Given the description of an element on the screen output the (x, y) to click on. 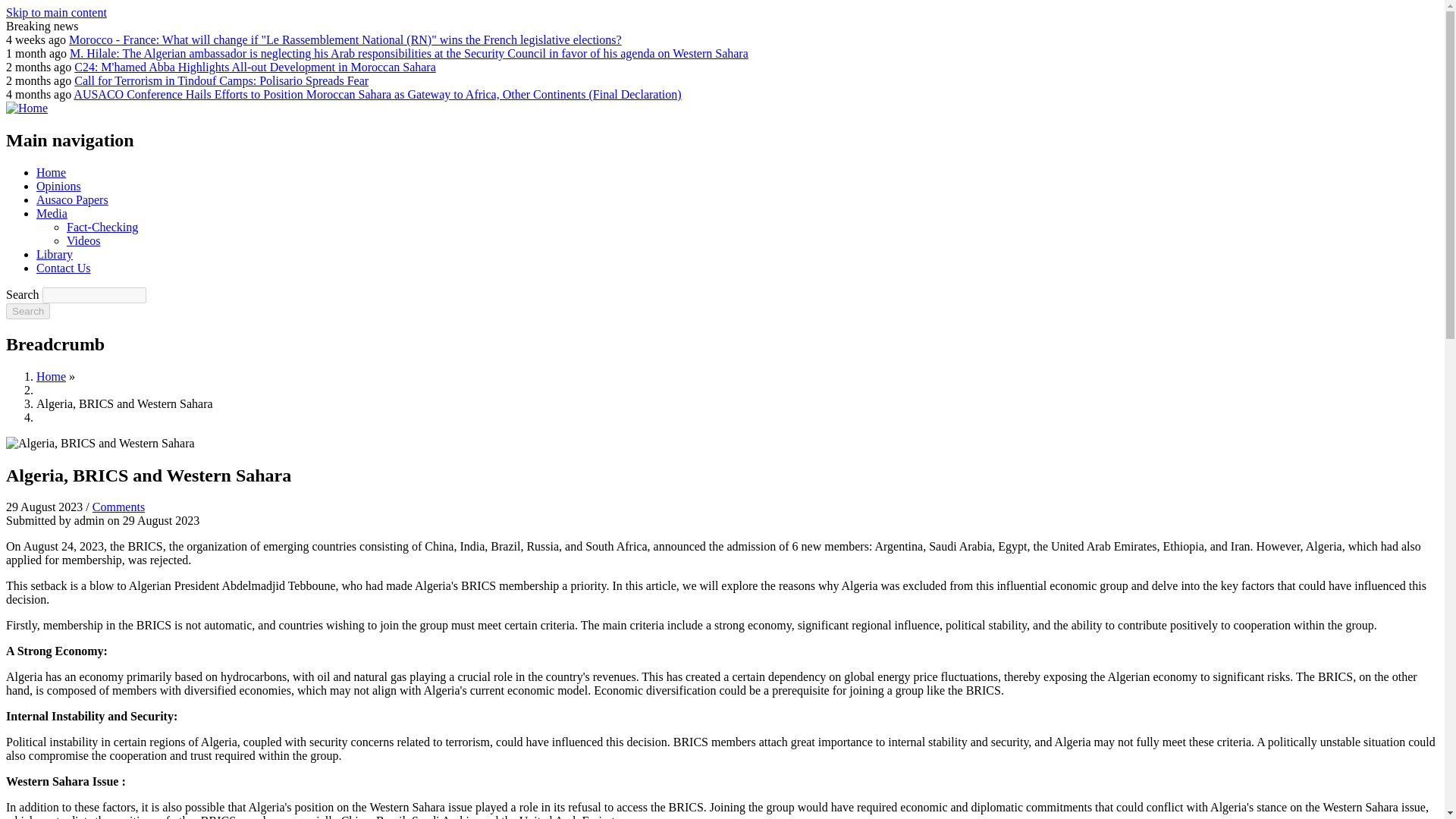
Comments (118, 506)
Library (54, 254)
Call for Terrorism in Tindouf Camps: Polisario Spreads Fear (221, 80)
Search (27, 311)
Search (27, 311)
Opinions (58, 185)
Contact Us (63, 267)
Fact-Checking (102, 226)
Ausaco Papers (71, 199)
Home (50, 172)
Home (26, 107)
Enter the terms you wish to search for. (94, 295)
Videos (83, 240)
